Given the description of an element on the screen output the (x, y) to click on. 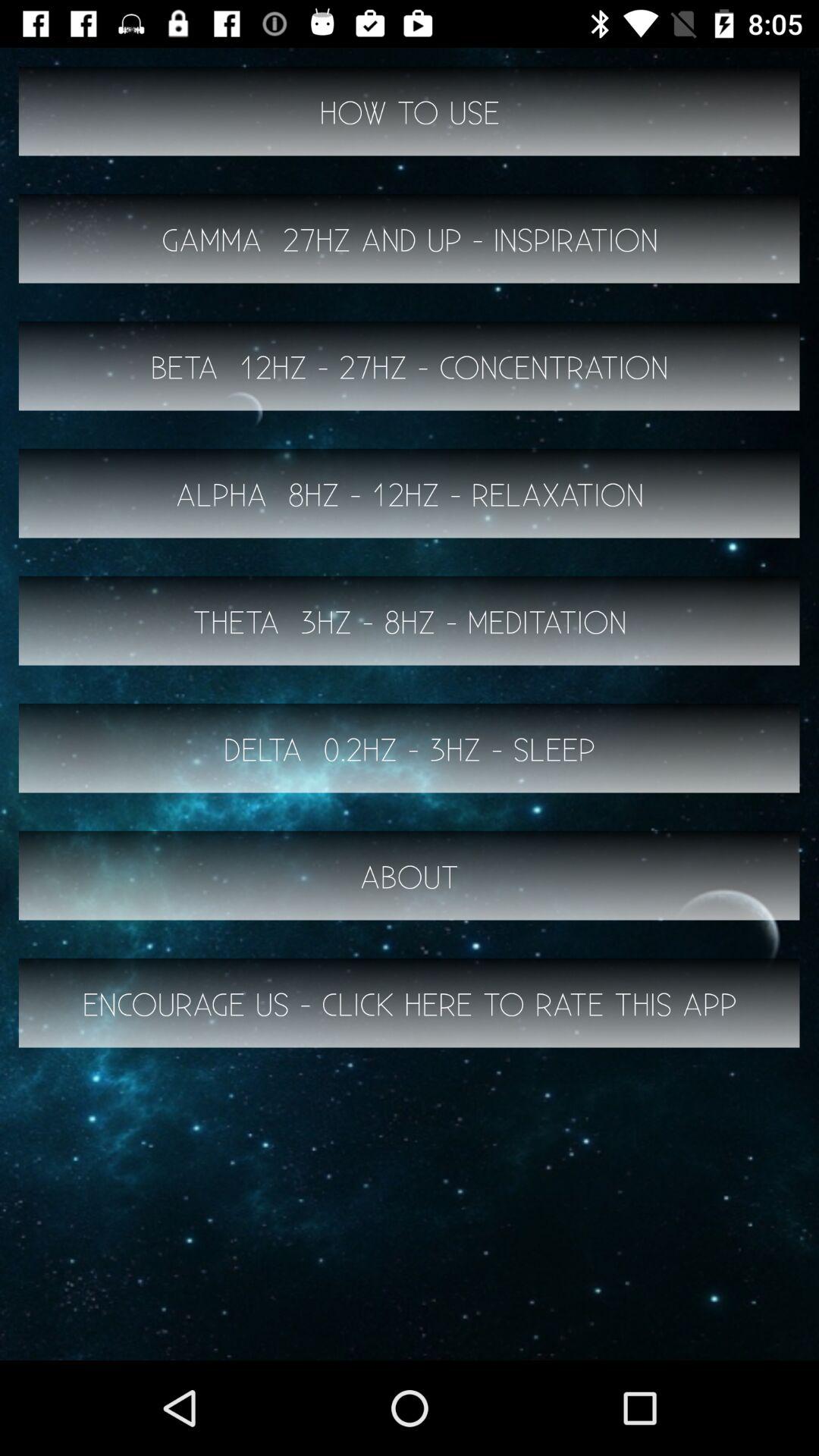
flip until the about icon (409, 875)
